Given the description of an element on the screen output the (x, y) to click on. 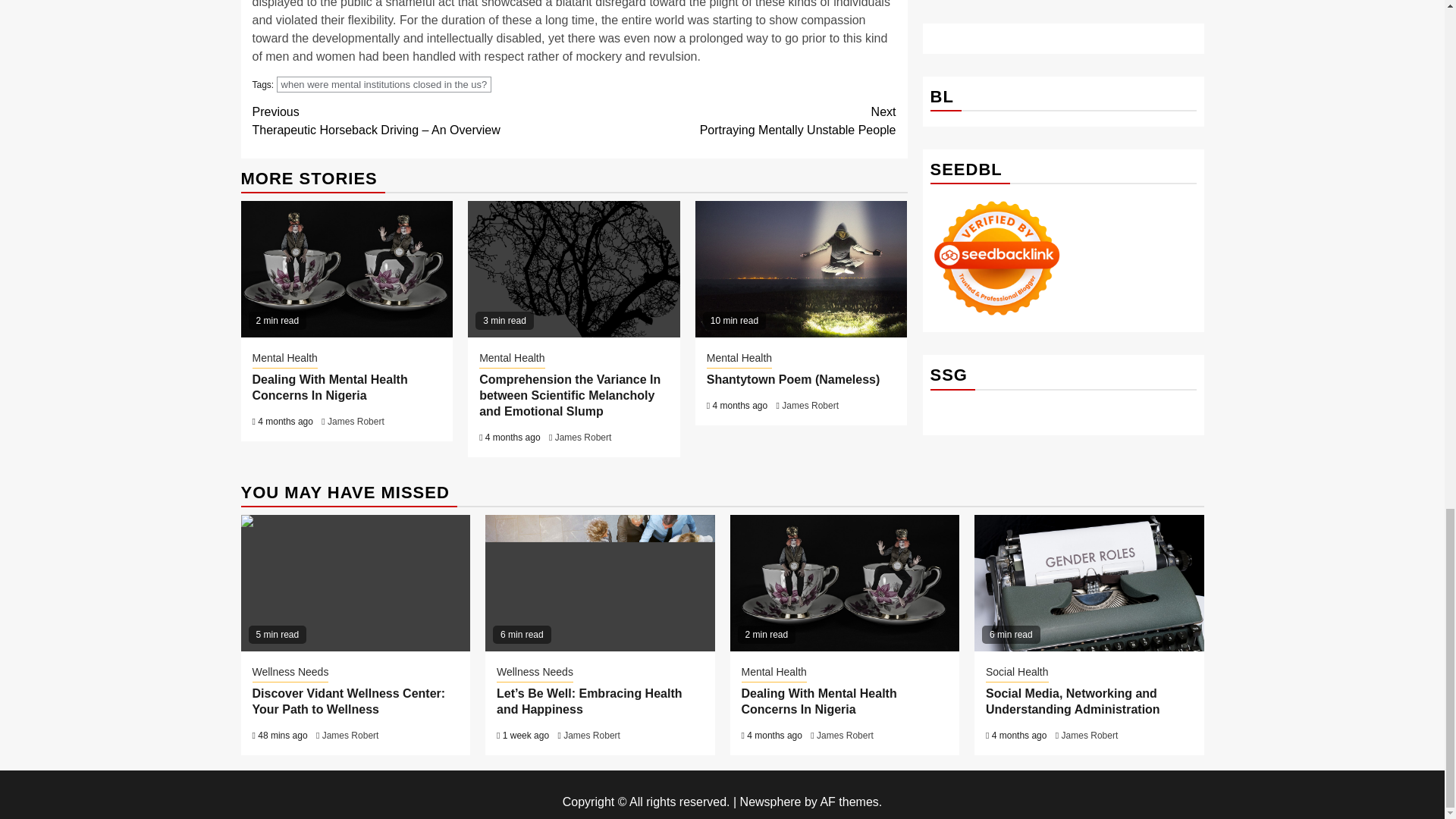
Discover Vidant Wellness Center: Your Path to Wellness (355, 583)
Dealing With Mental Health Concerns In Nigeria (734, 121)
Mental Health (844, 583)
Mental Health (284, 359)
Social Media, Networking and Understanding Administration (511, 359)
James Robert (1089, 583)
when were mental institutions closed in the us? (582, 437)
Dealing With Mental Health Concerns In Nigeria (384, 84)
James Robert (346, 268)
James Robert (355, 421)
Dealing With Mental Health Concerns In Nigeria (809, 405)
Mental Health (329, 387)
